Given the description of an element on the screen output the (x, y) to click on. 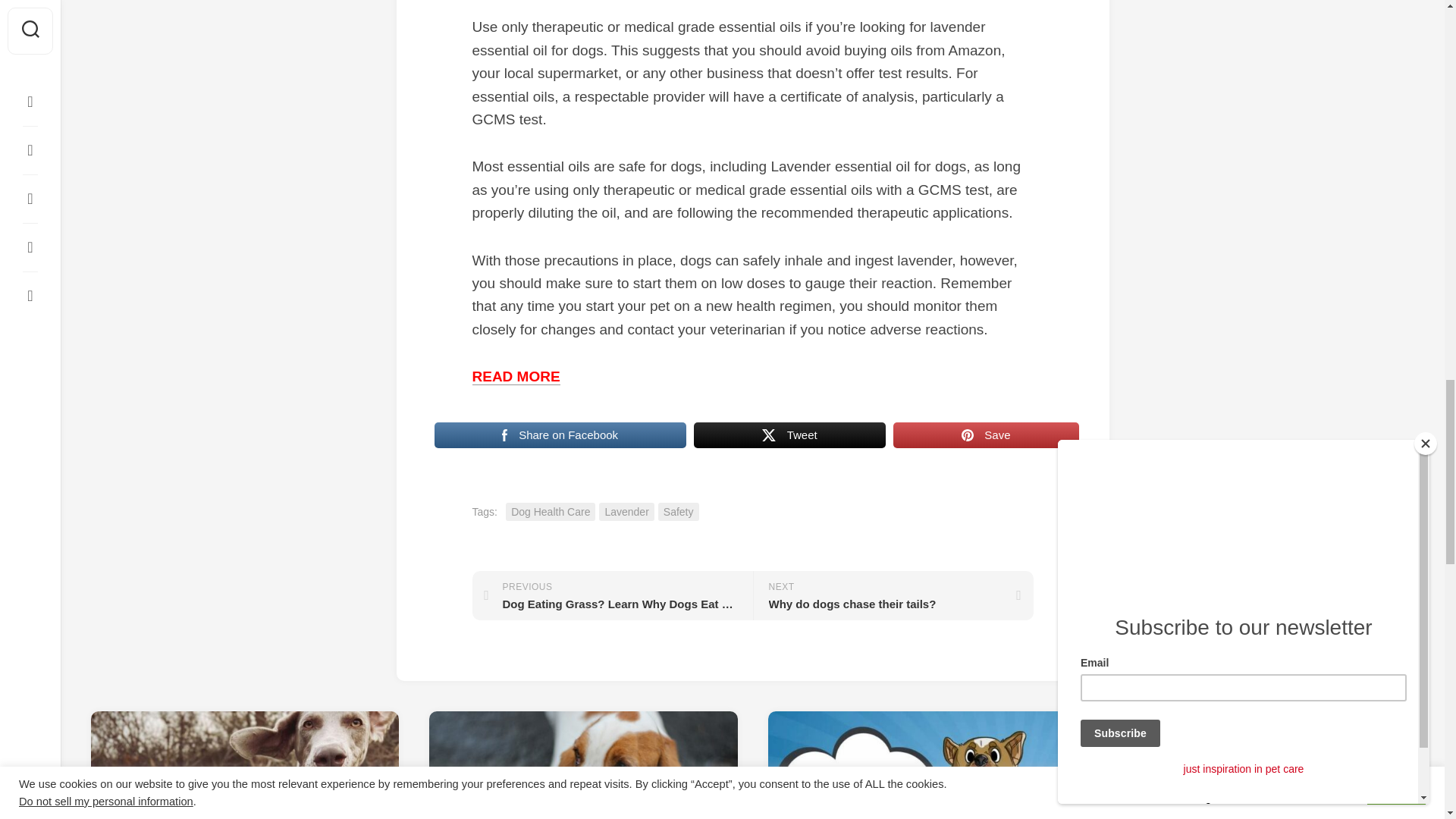
Lavender (625, 511)
Dog Health Care (550, 511)
READ MORE (515, 376)
Tweet (789, 434)
Save (985, 434)
Share on Facebook (559, 434)
Safety (611, 594)
